Given the description of an element on the screen output the (x, y) to click on. 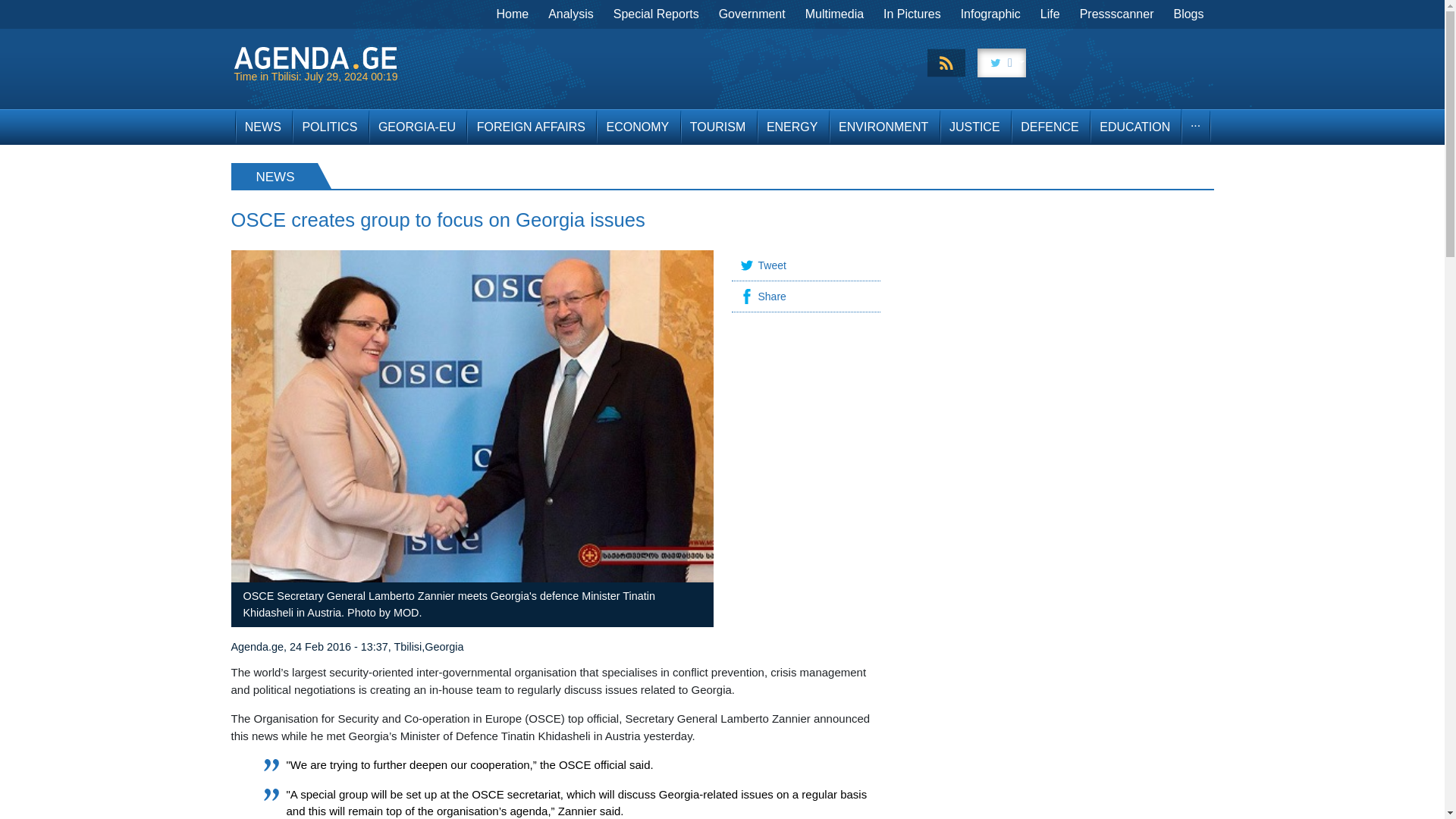
Analysis (571, 14)
Government (751, 14)
Life (1050, 14)
NEWS (262, 126)
Pressscanner (1116, 14)
Home (512, 14)
Multimedia (833, 14)
Special Reports (656, 14)
Blogs (1187, 14)
In Pictures (911, 14)
Infographic (990, 14)
